Given the description of an element on the screen output the (x, y) to click on. 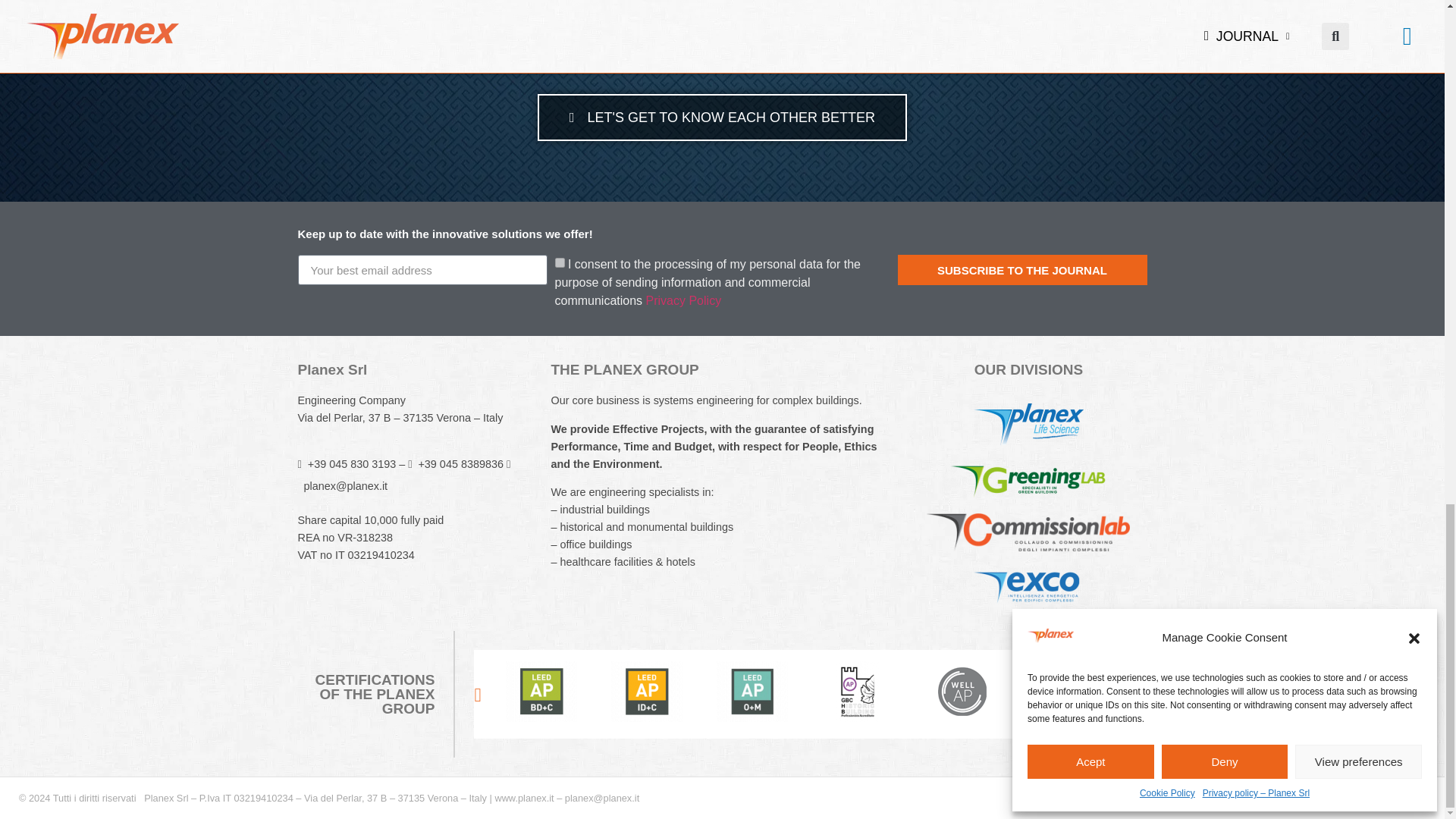
exco-fullx85 (1028, 585)
on (559, 262)
commissionlabx60 (1027, 532)
